Given the description of an element on the screen output the (x, y) to click on. 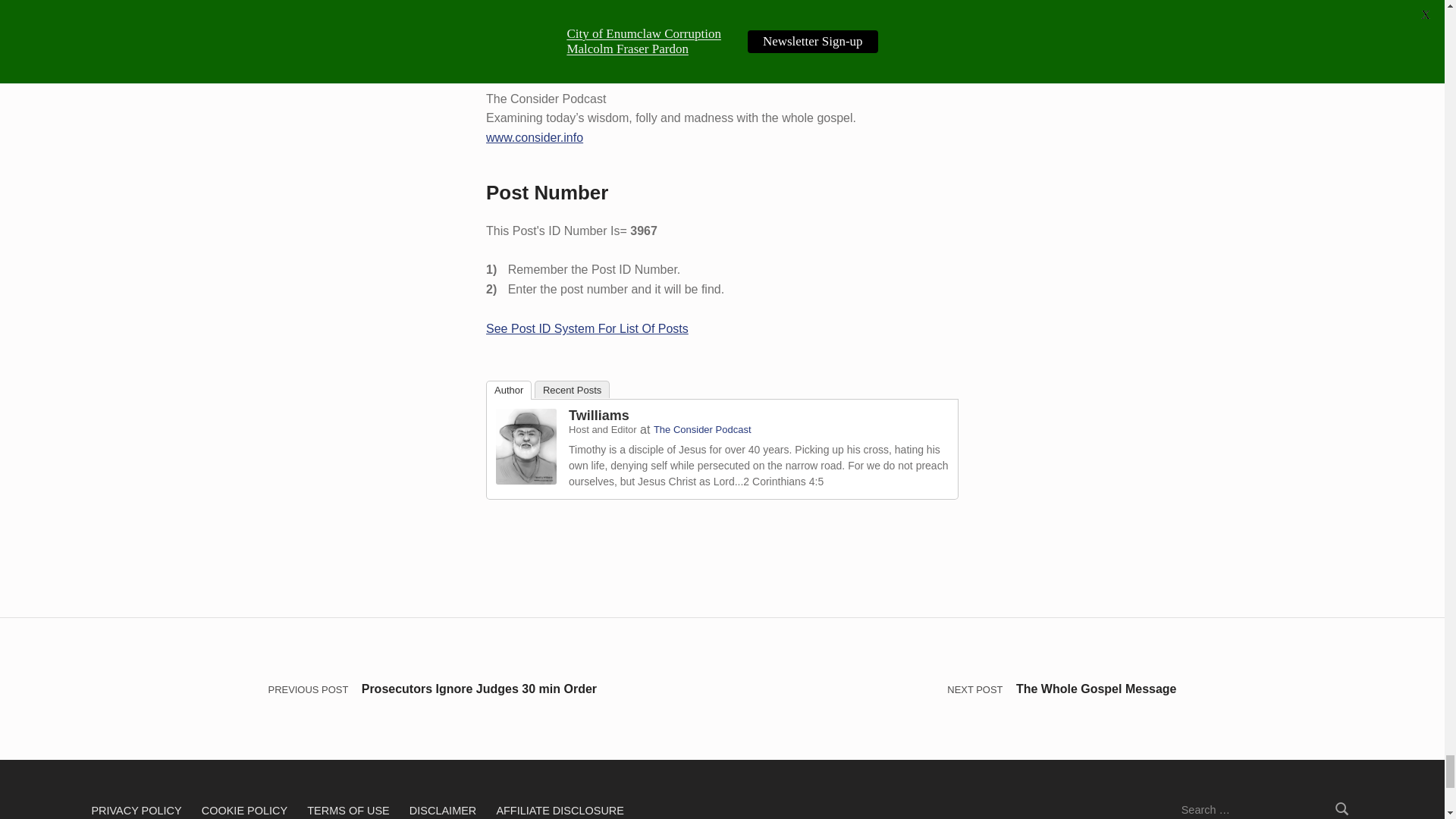
Search (1342, 805)
Search (1342, 805)
Twilliams (526, 445)
See Post ID System (587, 328)
